Given the description of an element on the screen output the (x, y) to click on. 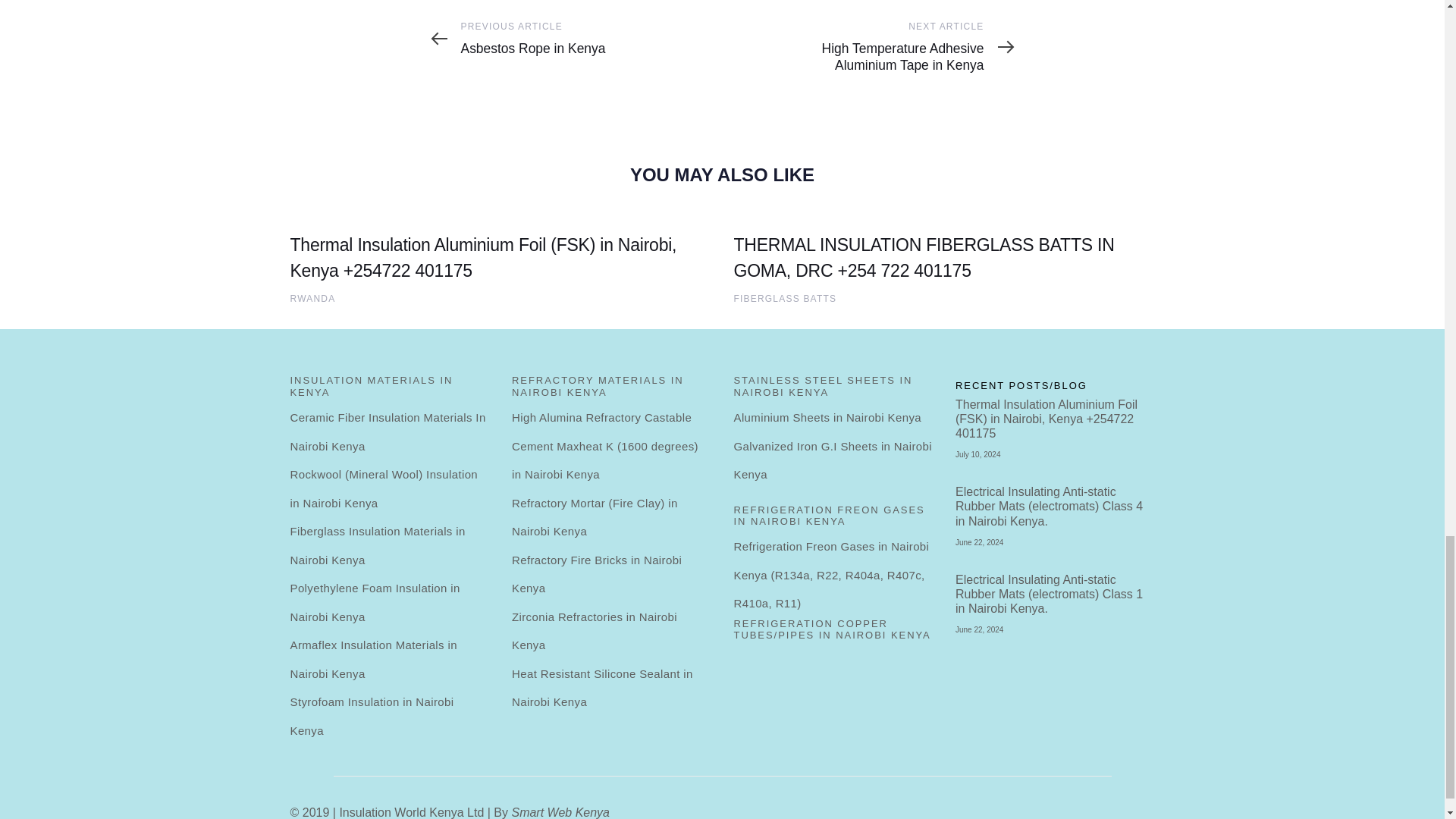
RWANDA (311, 298)
Ceramic Fiber Insulation Materials In Nairobi Kenya (389, 431)
Refractory Materials in Nairobi Kenya (611, 392)
INSULATION MATERIALS IN KENYA (389, 392)
Refrigeration Freon Gases in Nairobi Kenya (833, 521)
FIBERGLASS BATTS (785, 298)
Insulation Materials in Nairobi Kenya (389, 392)
